Given the description of an element on the screen output the (x, y) to click on. 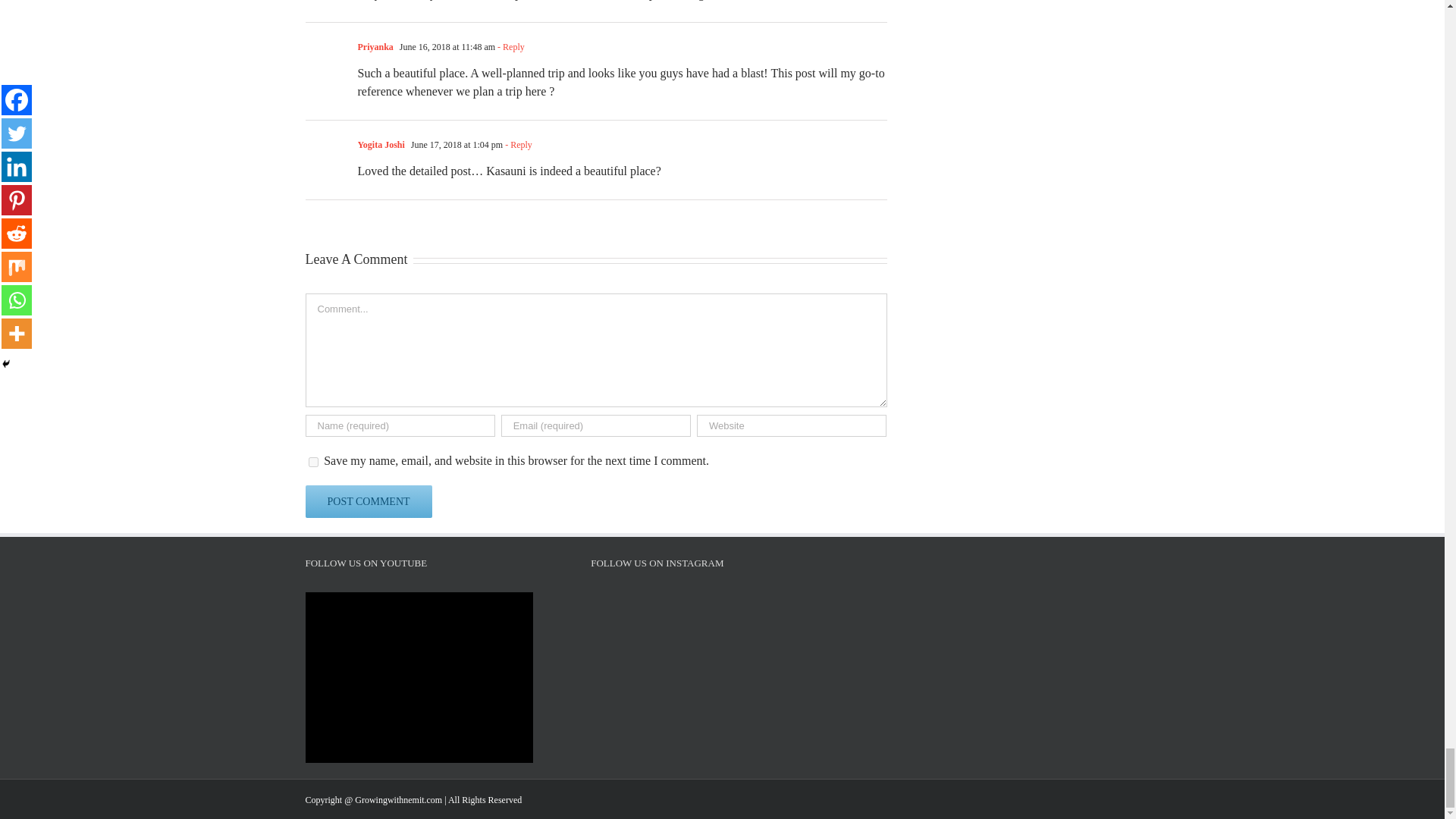
yes (312, 461)
Post Comment (367, 501)
